Given the description of an element on the screen output the (x, y) to click on. 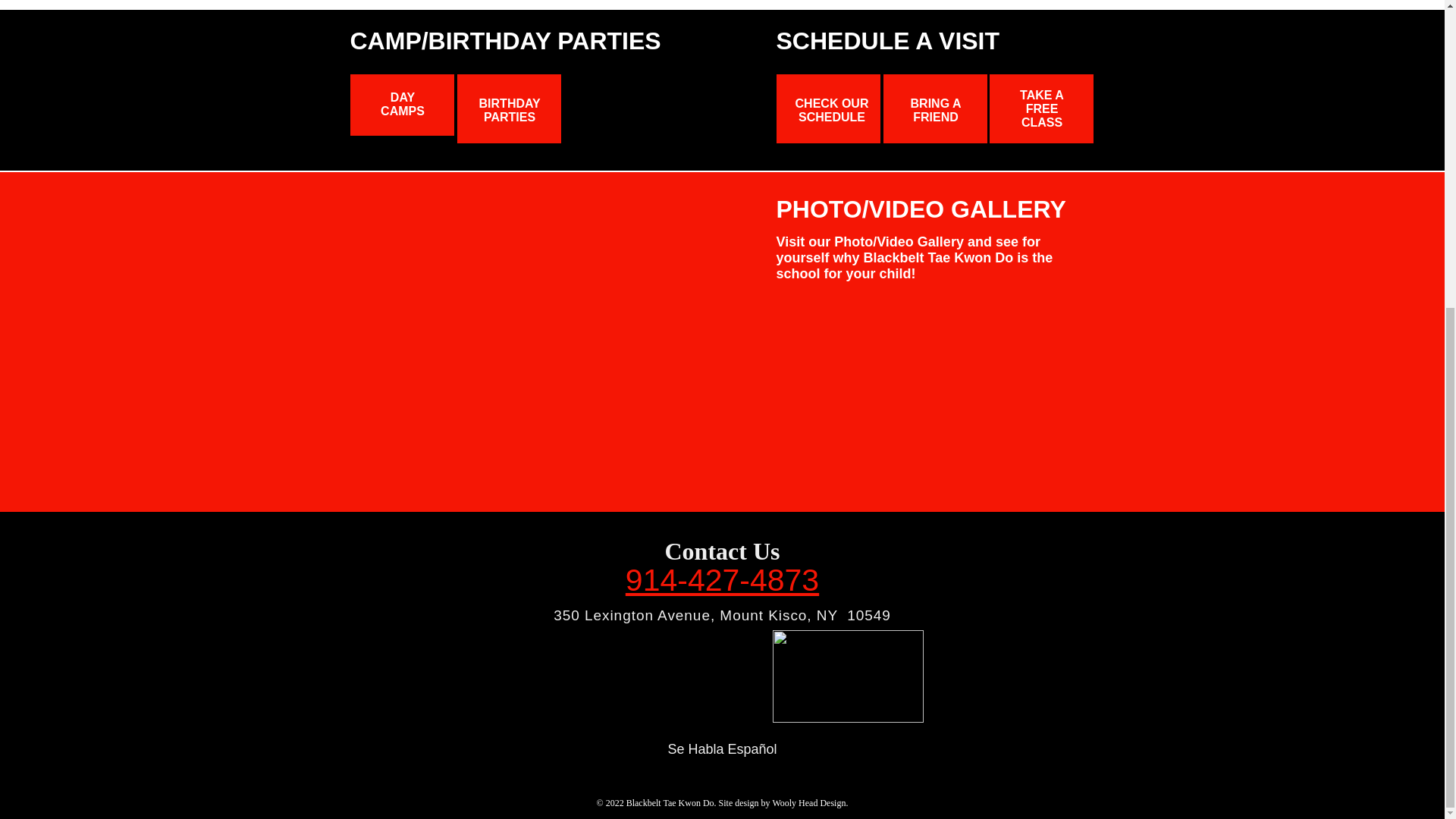
External Vimeo (549, 320)
CLASS (1042, 122)
DAY (402, 97)
PARTIES (509, 116)
FRIEND (935, 116)
BIRTHDAY (509, 103)
Wooly Head Design. (809, 802)
TAKE A (1042, 94)
914-427-4873 (722, 582)
CAMPS (402, 110)
FREE (1042, 108)
BRING A (935, 103)
CHECK OUR SCHEDULE (831, 110)
